Given the description of an element on the screen output the (x, y) to click on. 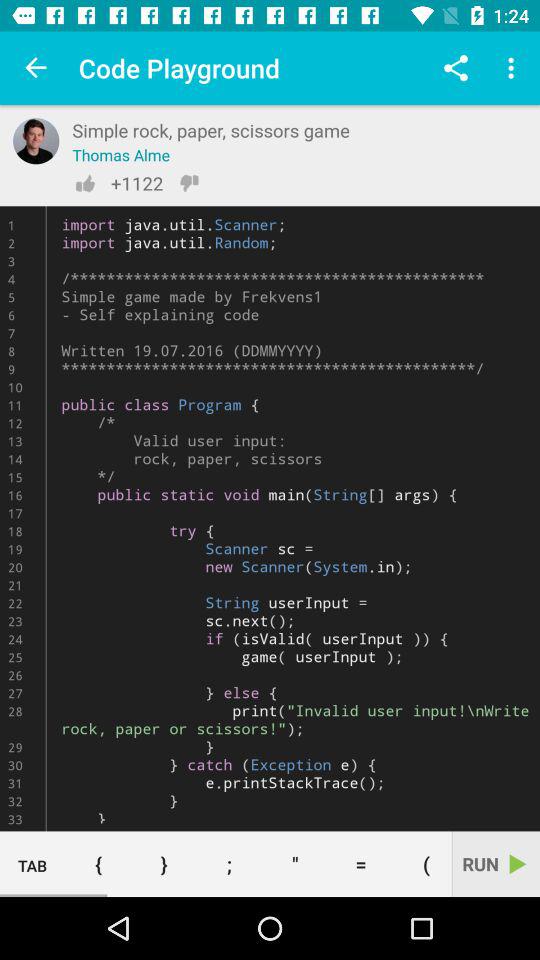
open button next to = (295, 863)
